Given the description of an element on the screen output the (x, y) to click on. 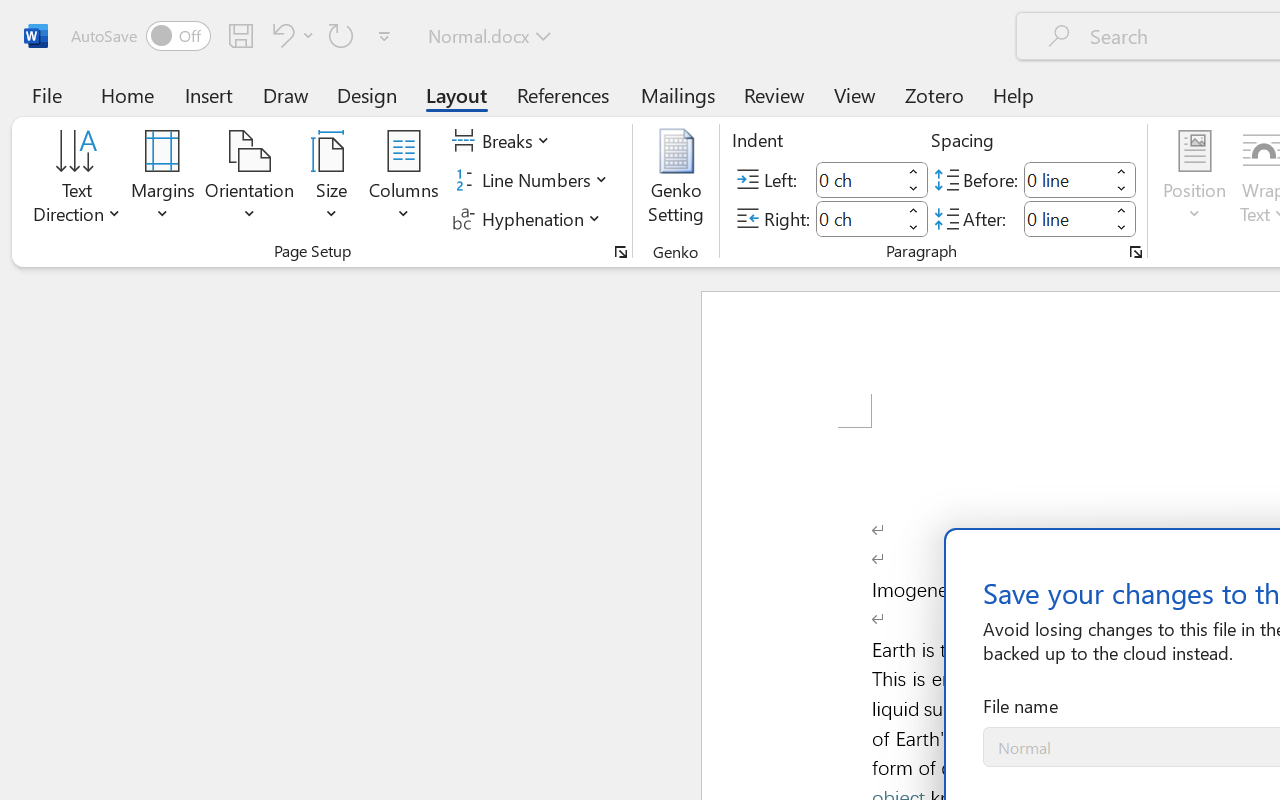
Spacing Before (1066, 179)
Indent Right (858, 218)
Size (331, 179)
Less (1121, 227)
Spacing After (1066, 218)
Repeat Paste Option (341, 35)
Help (1013, 94)
Genko Setting... (676, 179)
More (1121, 210)
